Given the description of an element on the screen output the (x, y) to click on. 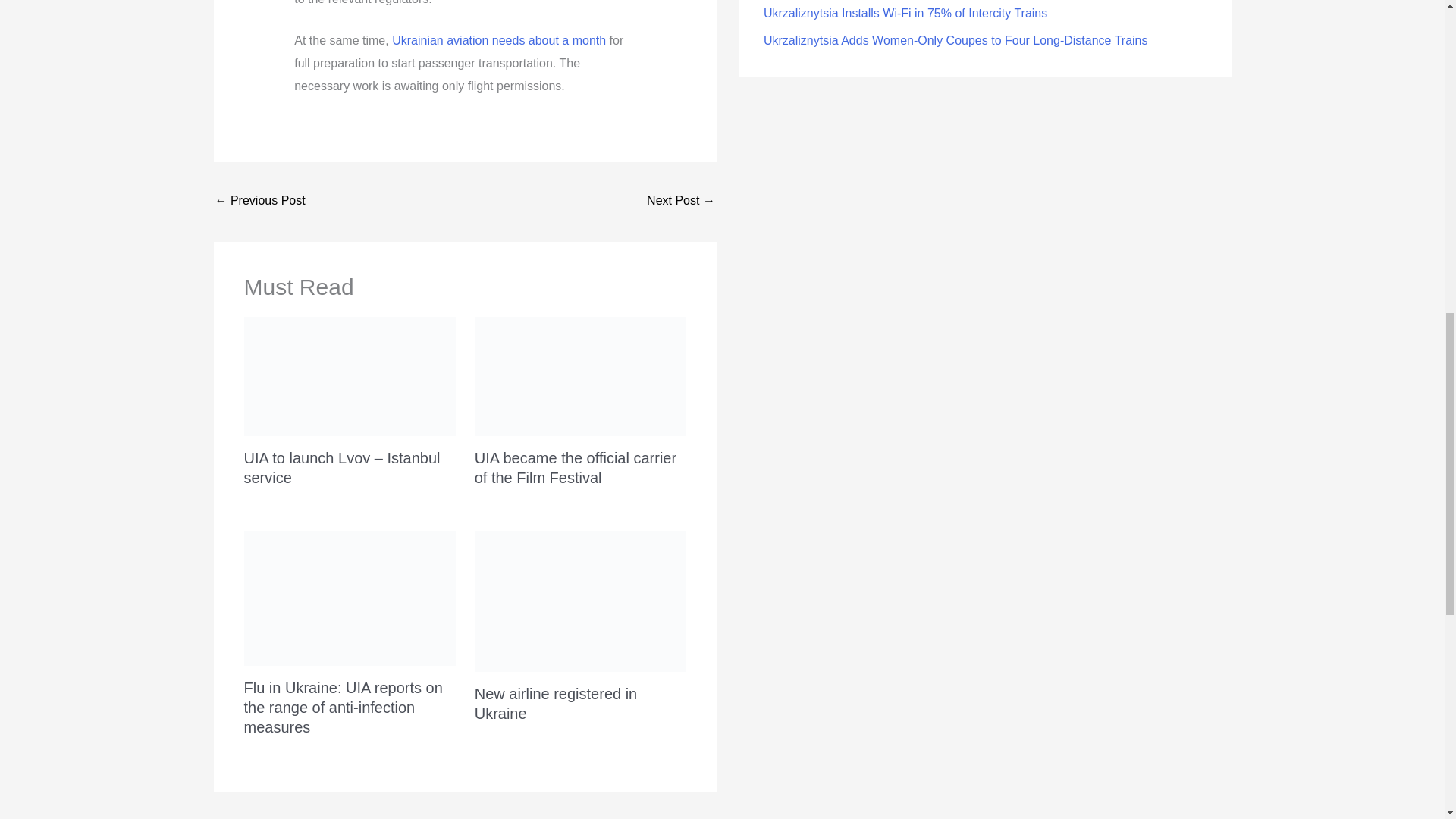
6 New Cafes in Lviv (260, 202)
Ukrainian aviation needs about a month (498, 40)
